Given the description of an element on the screen output the (x, y) to click on. 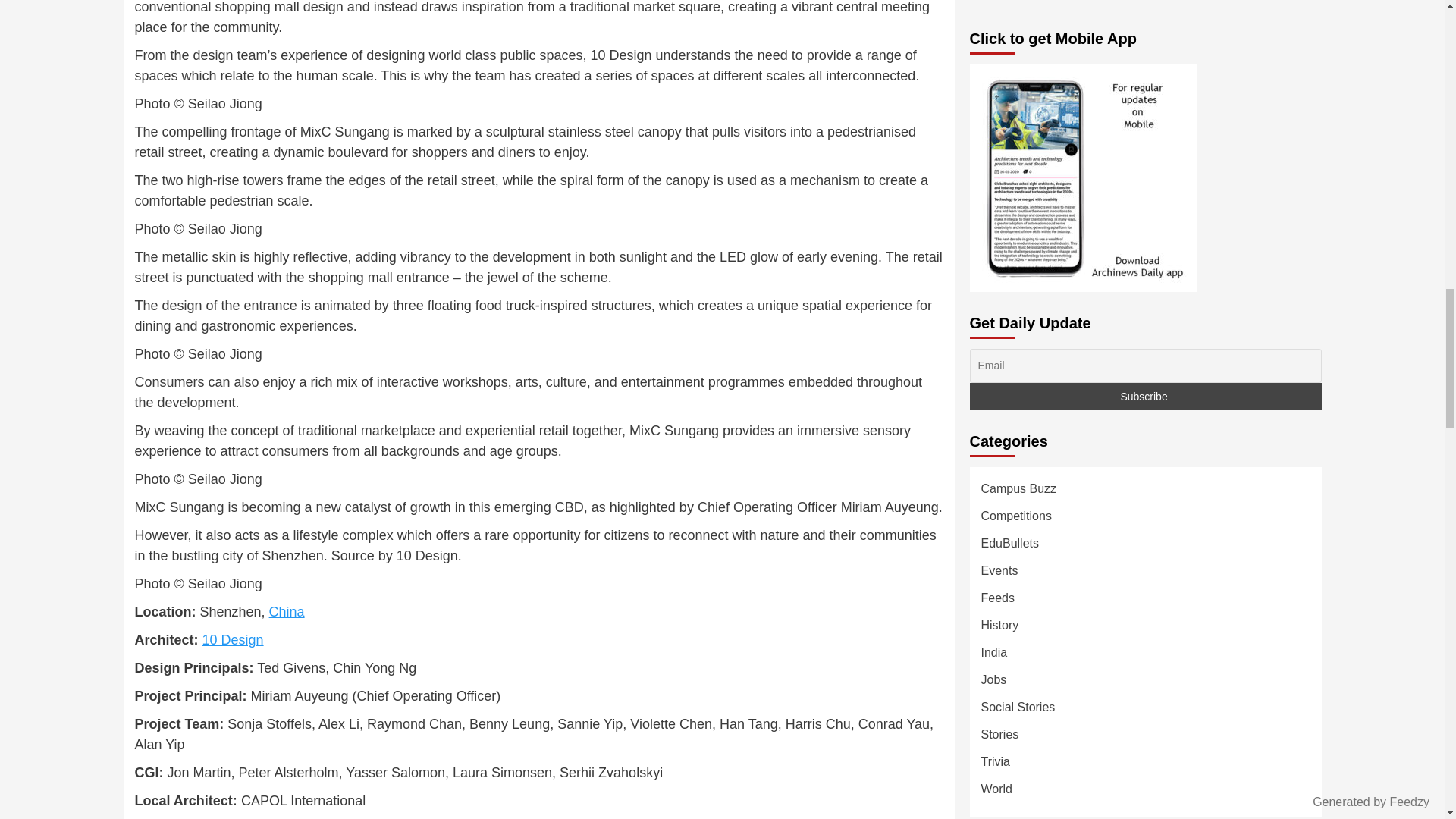
10 Design (232, 639)
China (286, 611)
